Given the description of an element on the screen output the (x, y) to click on. 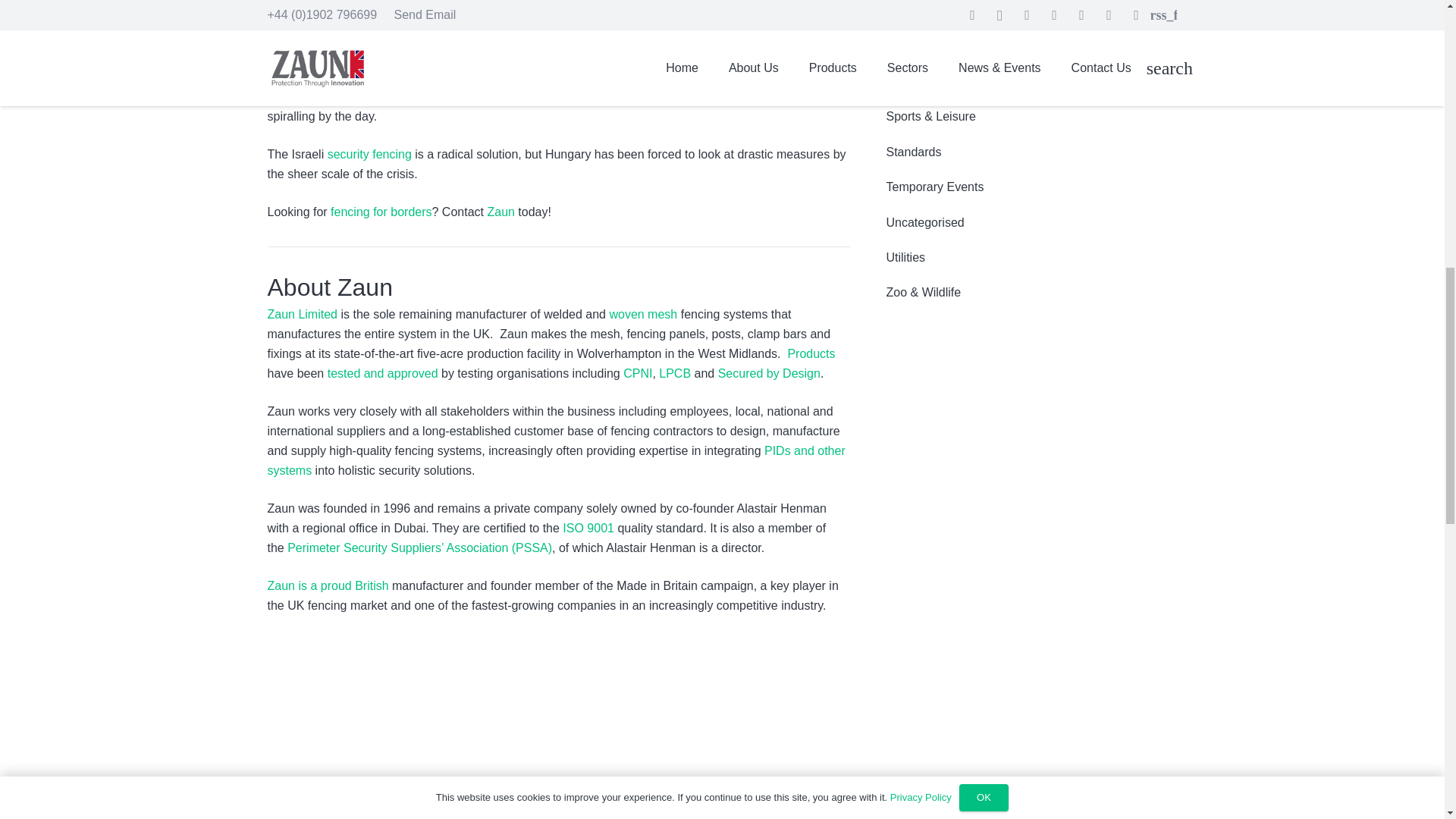
woven mesh (642, 314)
Turkey heightens security on the Syrian border fences (380, 211)
The science of security fencing (369, 154)
Zaun helps secure British electricity supply (327, 585)
